Given the description of an element on the screen output the (x, y) to click on. 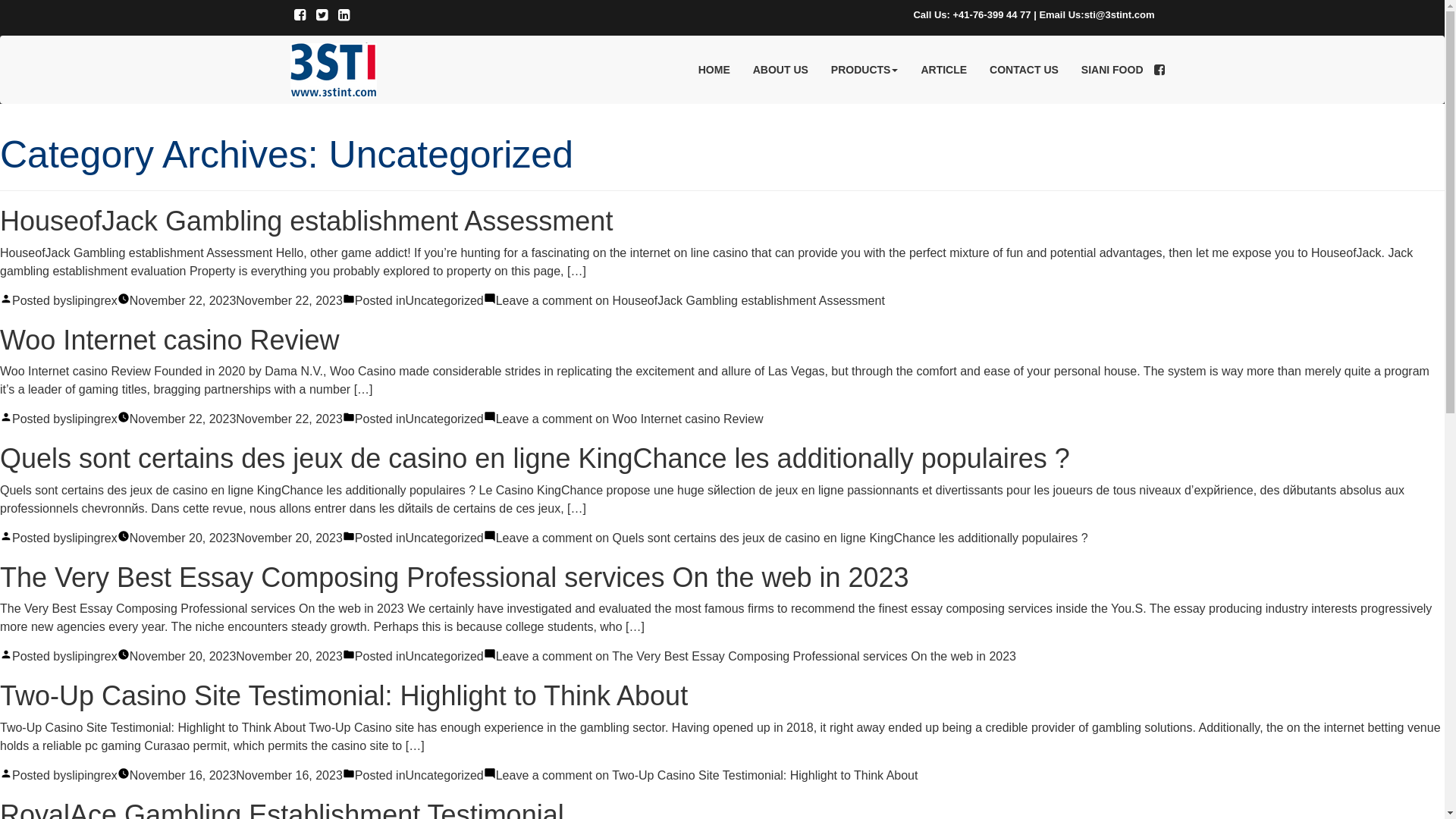
ARTICLE Element type: text (943, 69)
November 22, 2023November 22, 2023 Element type: text (235, 300)
Uncategorized Element type: text (444, 655)
sti@3stint.com Element type: text (1119, 14)
Uncategorized Element type: text (444, 418)
ABOUT US Element type: text (780, 69)
HOME Element type: text (714, 69)
Uncategorized Element type: text (444, 774)
CONTACT US Element type: text (1024, 69)
HouseofJack Gambling establishment Assessment Element type: text (306, 220)
Uncategorized Element type: text (444, 537)
November 22, 2023November 22, 2023 Element type: text (235, 418)
SIANI FOOD Element type: text (1112, 69)
+41-76-399 44 77 Element type: text (991, 14)
Woo Internet casino Review Element type: text (169, 339)
November 16, 2023November 16, 2023 Element type: text (235, 774)
November 20, 2023November 20, 2023 Element type: text (235, 655)
slipingrex Element type: text (91, 418)
Two-Up Casino Site Testimonial: Highlight to Think About Element type: text (343, 695)
slipingrex Element type: text (91, 300)
slipingrex Element type: text (91, 774)
PRODUCTS Element type: text (864, 69)
Leave a comment on Woo Internet casino Review Element type: text (629, 418)
slipingrex Element type: text (91, 537)
slipingrex Element type: text (91, 655)
Uncategorized Element type: text (444, 300)
November 20, 2023November 20, 2023 Element type: text (235, 537)
